Given the description of an element on the screen output the (x, y) to click on. 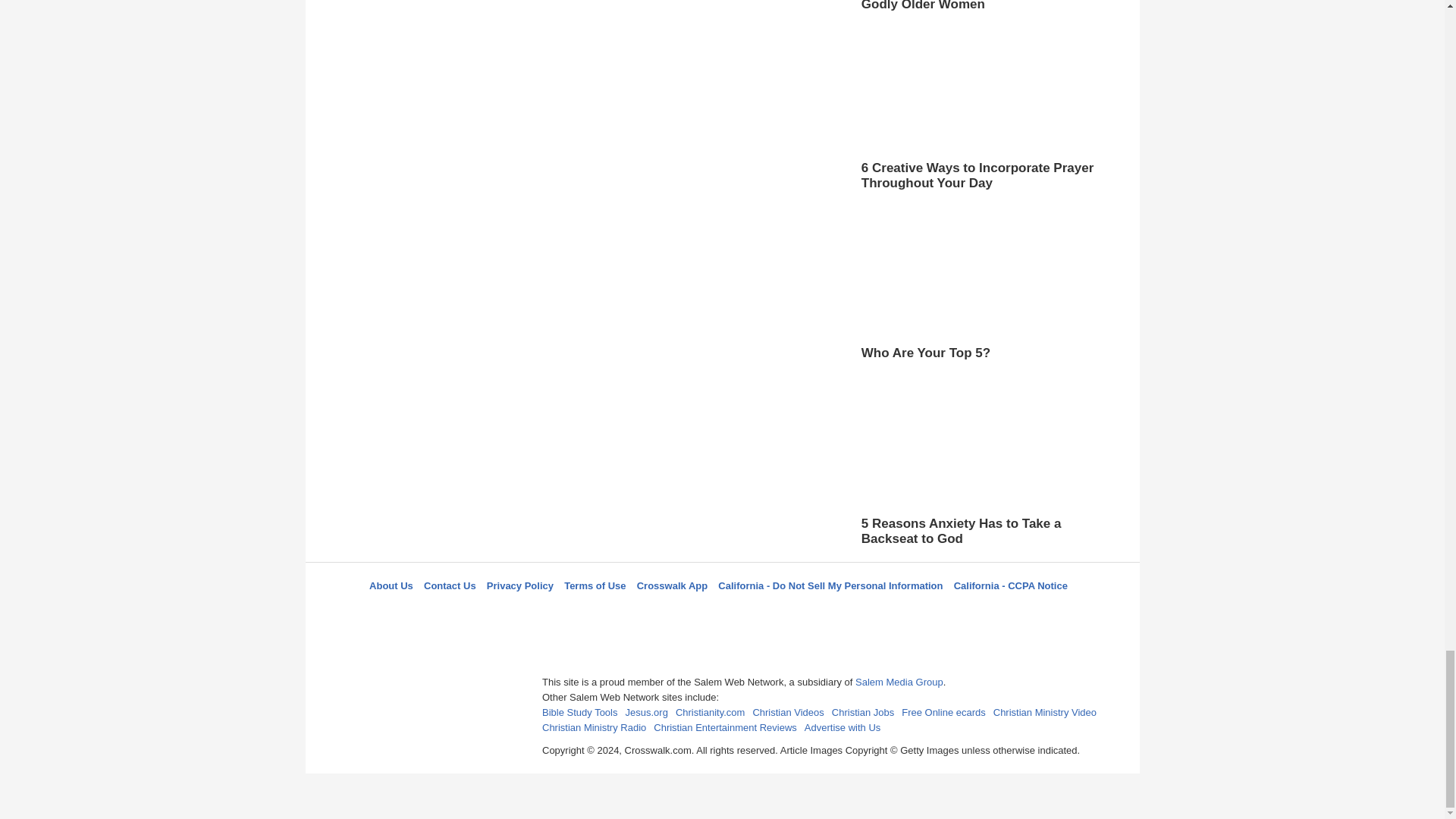
Twitter (683, 612)
LifeAudio (719, 612)
Facebook (645, 612)
YouTube (795, 612)
Pinterest (757, 612)
